Given the description of an element on the screen output the (x, y) to click on. 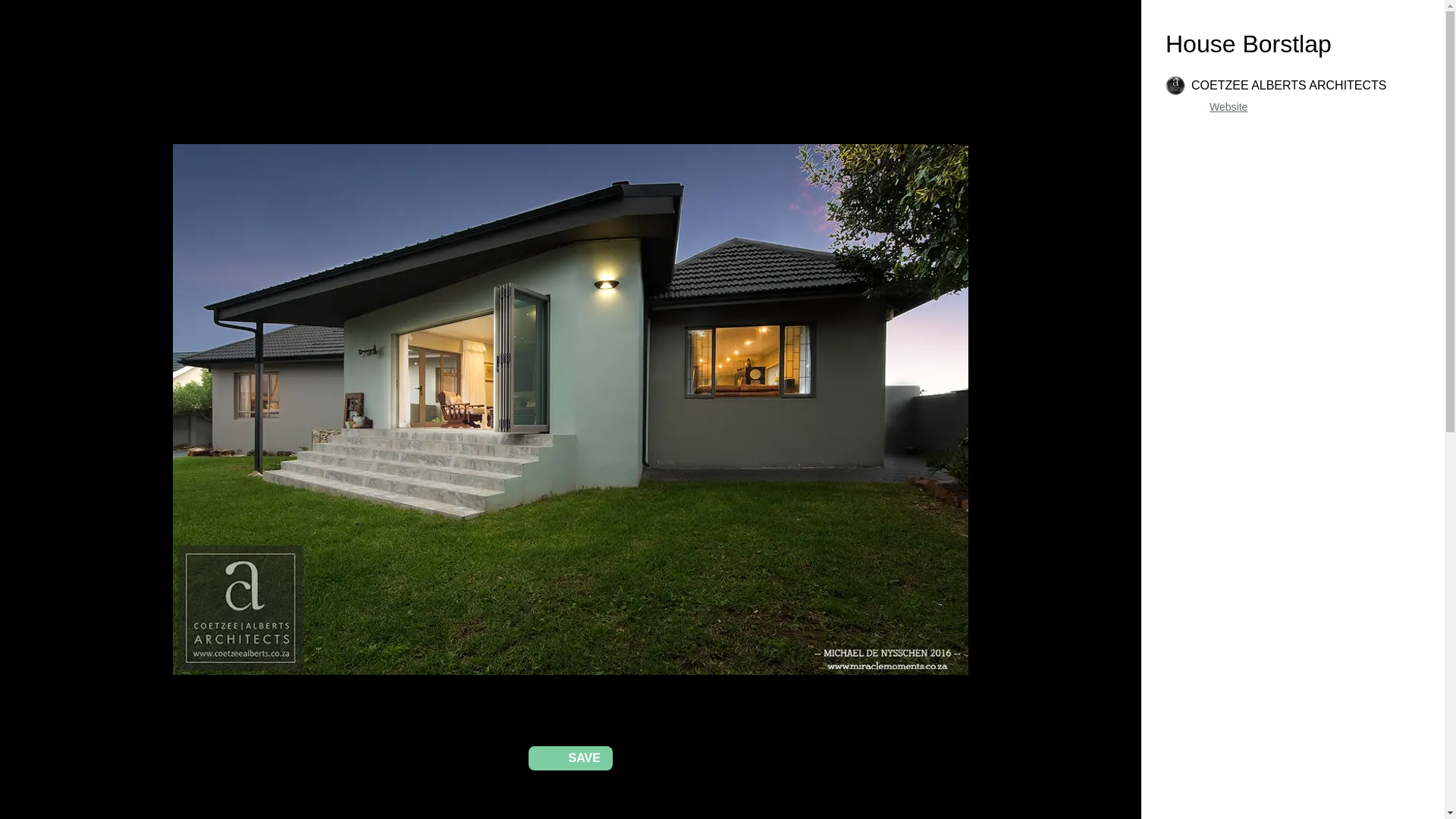
Website (1228, 106)
COETZEE ALBERTS ARCHITECTS (1276, 85)
House Borstlap (1249, 43)
